Given the description of an element on the screen output the (x, y) to click on. 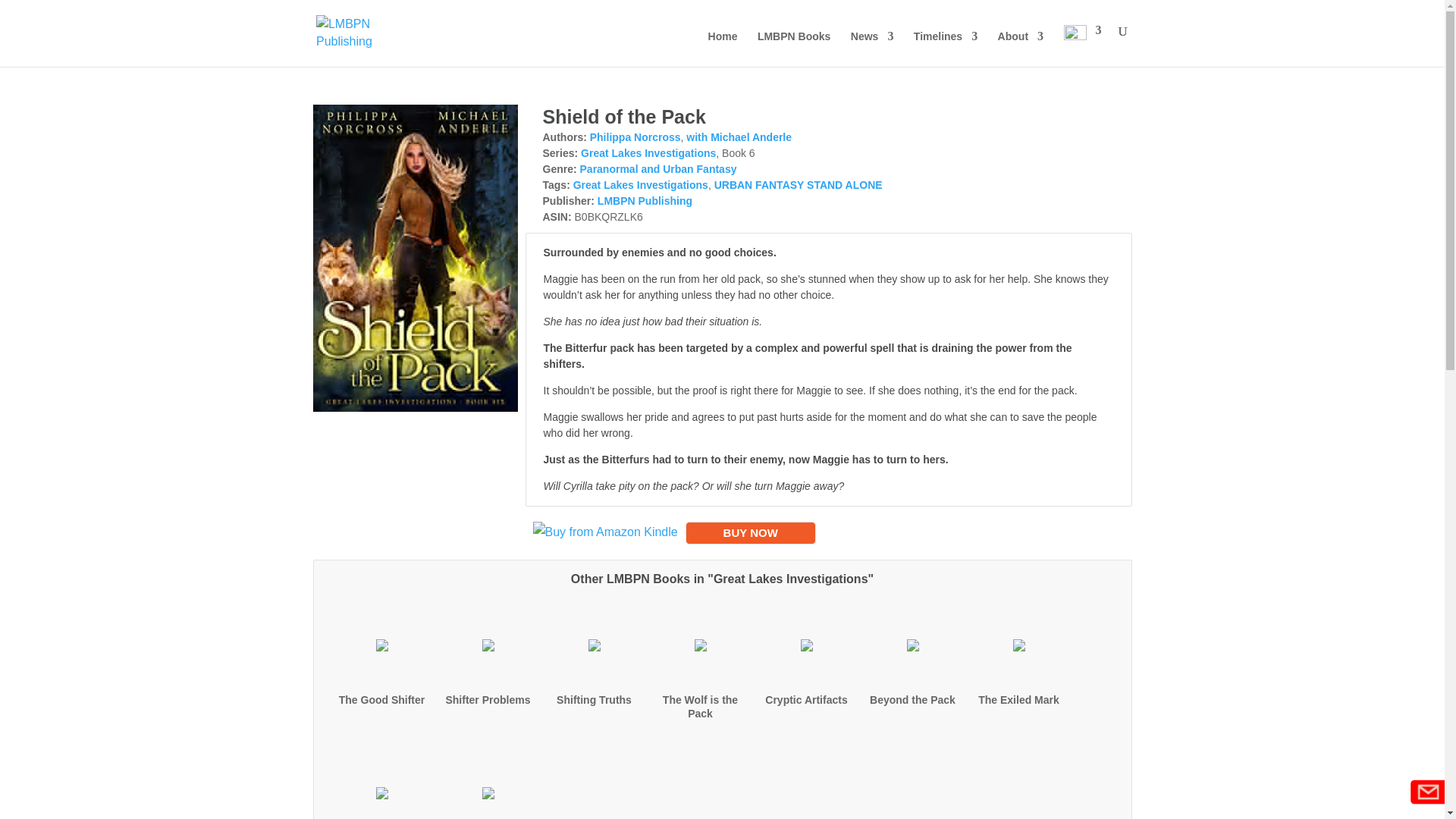
Paranormal and Urban Fantasy (657, 168)
with Michael Anderle (738, 136)
LMBPN Publishing (644, 200)
About (1020, 48)
URBAN FANTASY STAND ALONE (798, 184)
BUY NOW (750, 532)
Philippa Norcross (635, 136)
Great Lakes Investigations (648, 152)
The Good Shifter (382, 699)
News (871, 48)
Timelines (945, 48)
LMBPN Books (793, 48)
Great Lakes Investigations (640, 184)
